Given the description of an element on the screen output the (x, y) to click on. 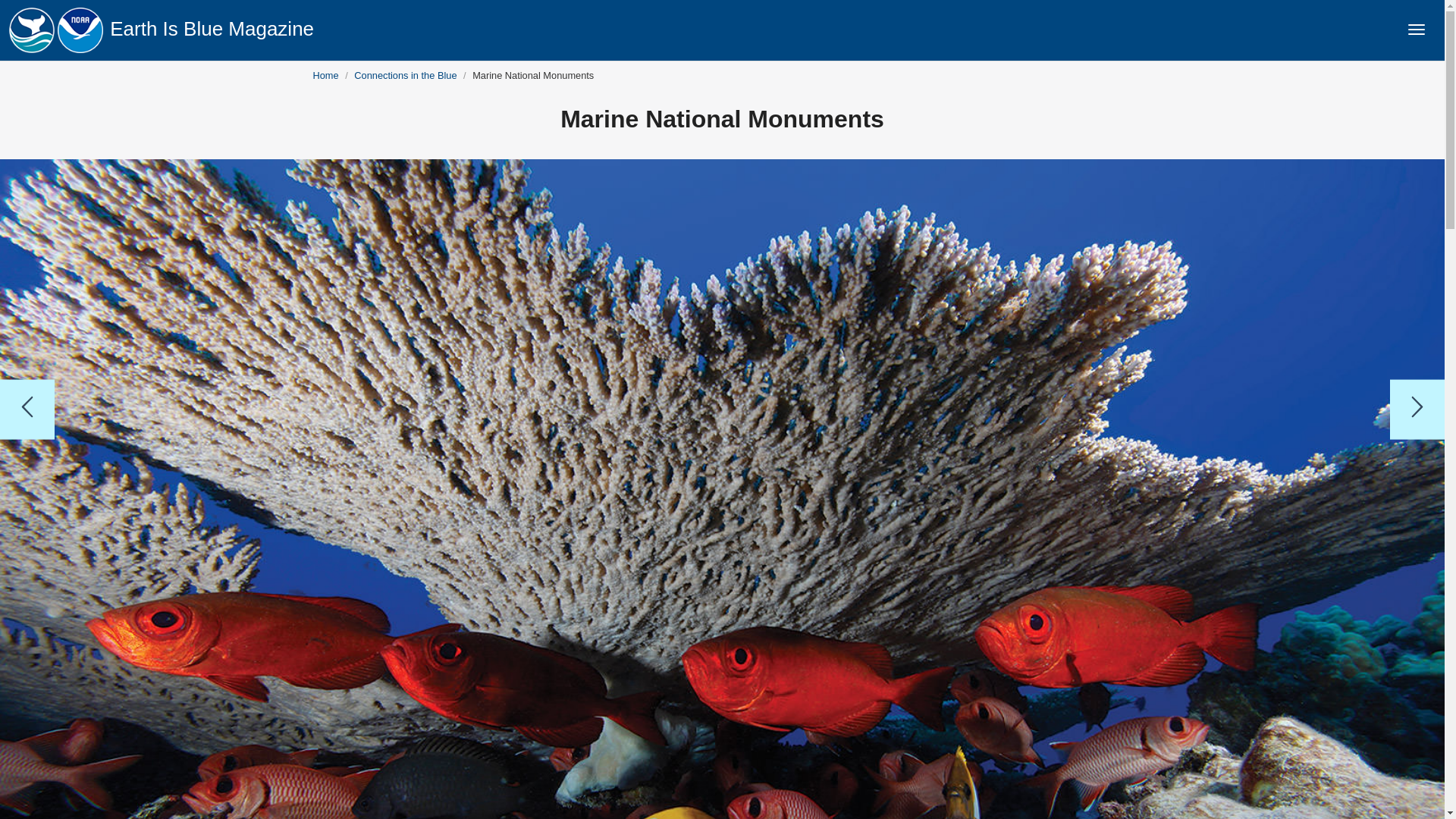
Connections in the Blue (405, 75)
Earth Is Blue Magazine (212, 28)
Home (325, 75)
Toggle navigation (1415, 29)
